Given the description of an element on the screen output the (x, y) to click on. 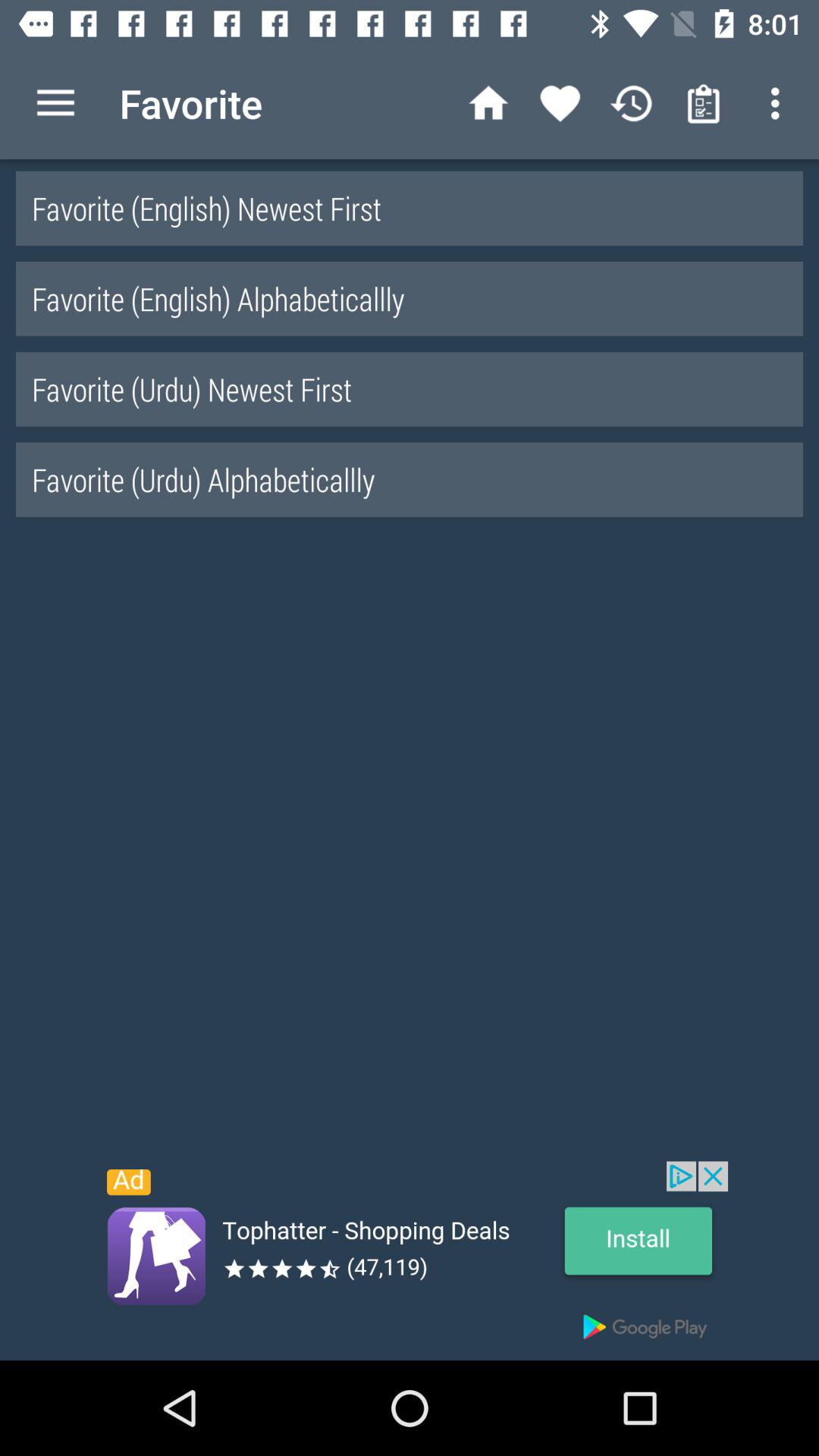
tophatter shopping link (409, 1260)
